Given the description of an element on the screen output the (x, y) to click on. 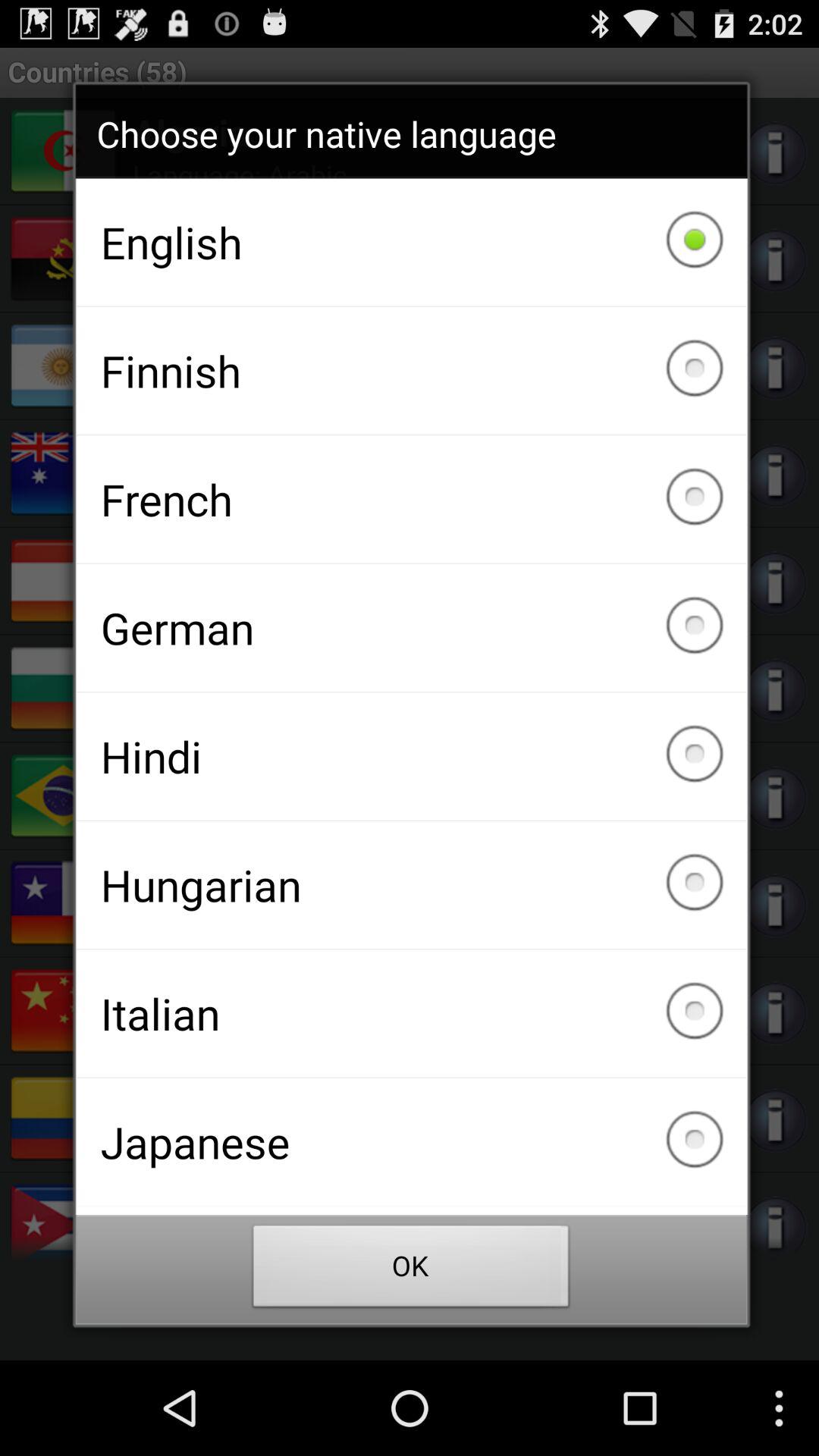
click item below the korean item (410, 1270)
